Given the description of an element on the screen output the (x, y) to click on. 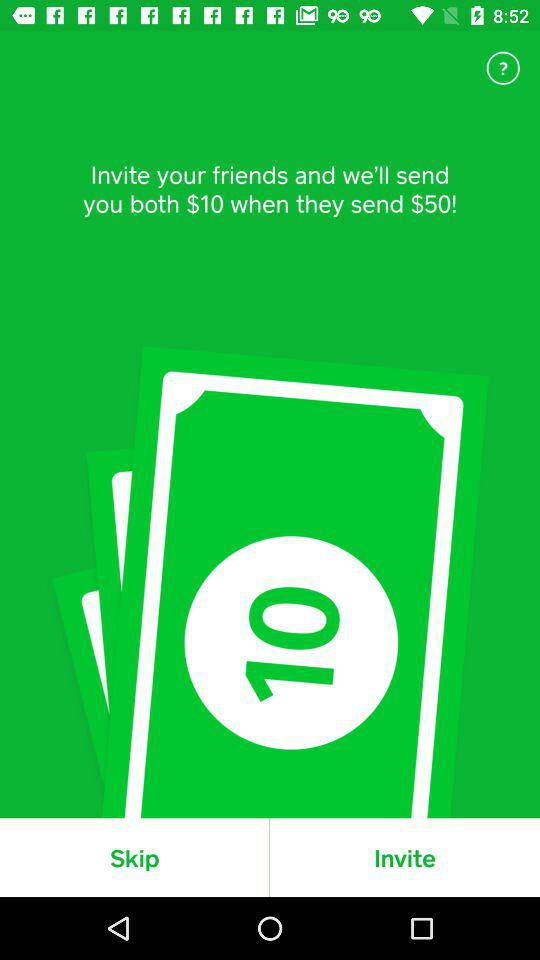
scroll to skip item (134, 857)
